Given the description of an element on the screen output the (x, y) to click on. 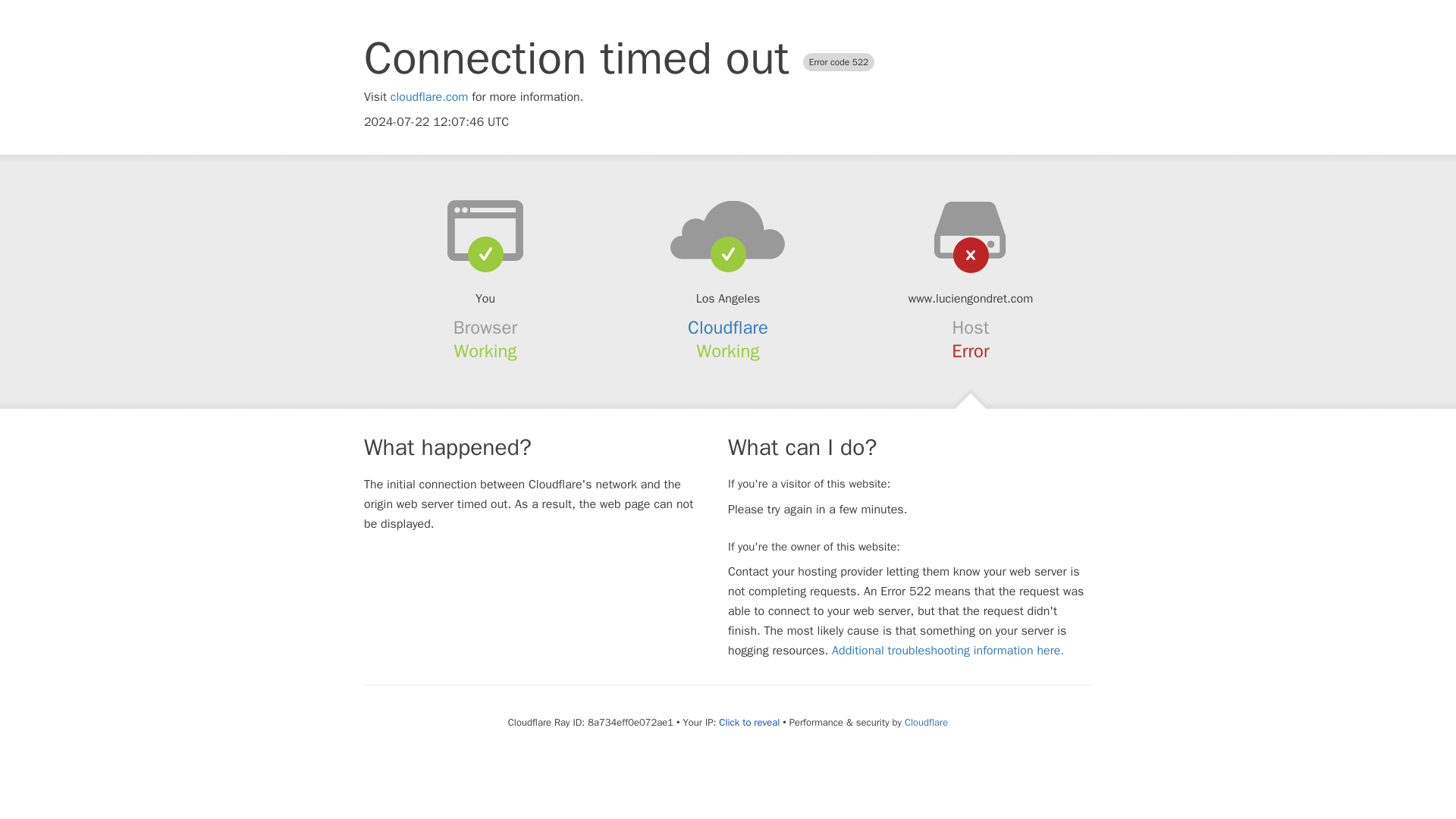
Cloudflare (727, 327)
cloudflare.com (429, 96)
Cloudflare (925, 721)
Additional troubleshooting information here. (947, 650)
Click to reveal (748, 722)
